Given the description of an element on the screen output the (x, y) to click on. 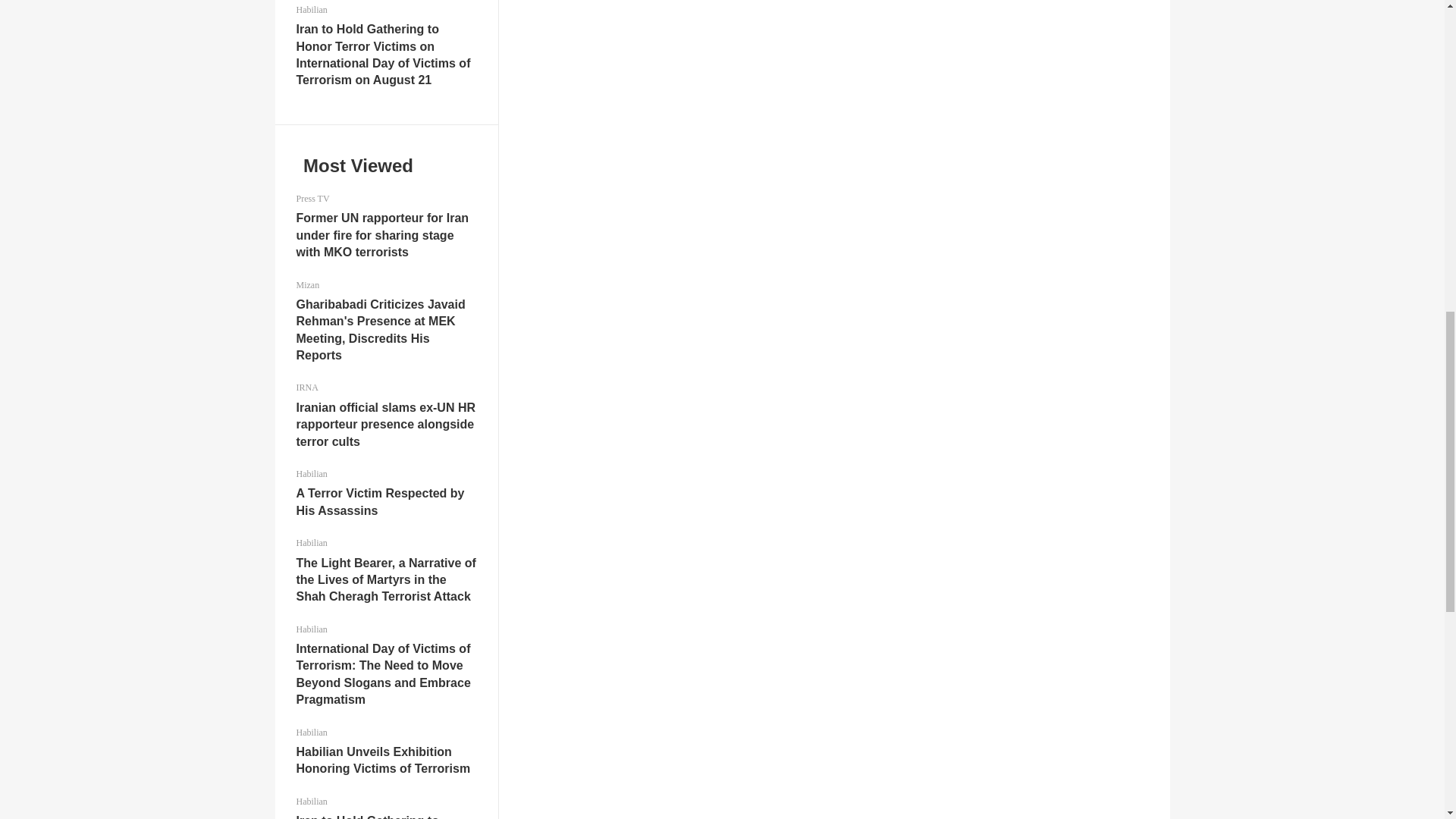
Habilian Unveils Exhibition Honoring Victims of Terrorism (382, 759)
A Terror Victim Respected by His Assassins (379, 501)
